Given the description of an element on the screen output the (x, y) to click on. 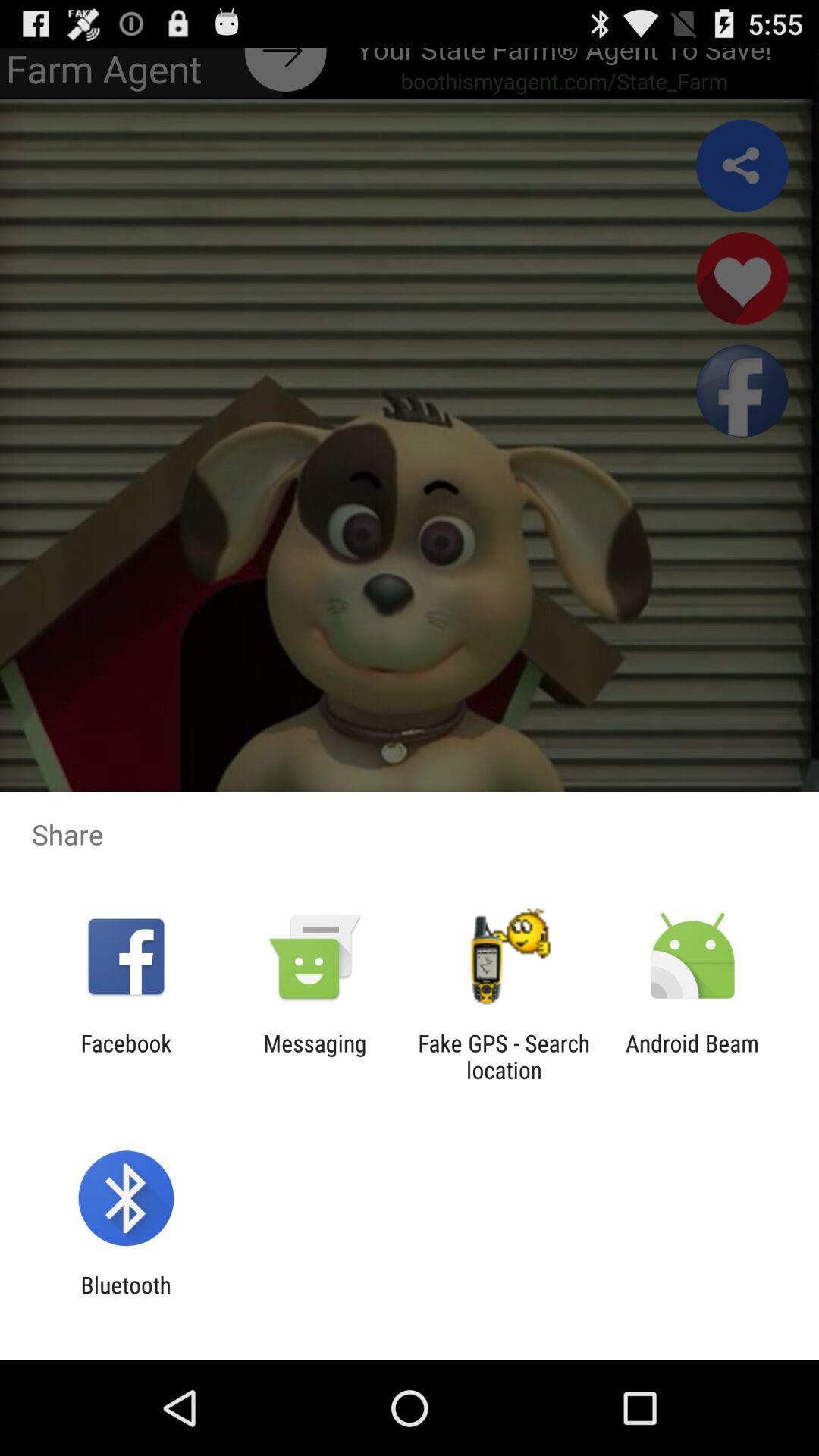
select item to the right of messaging app (503, 1056)
